Given the description of an element on the screen output the (x, y) to click on. 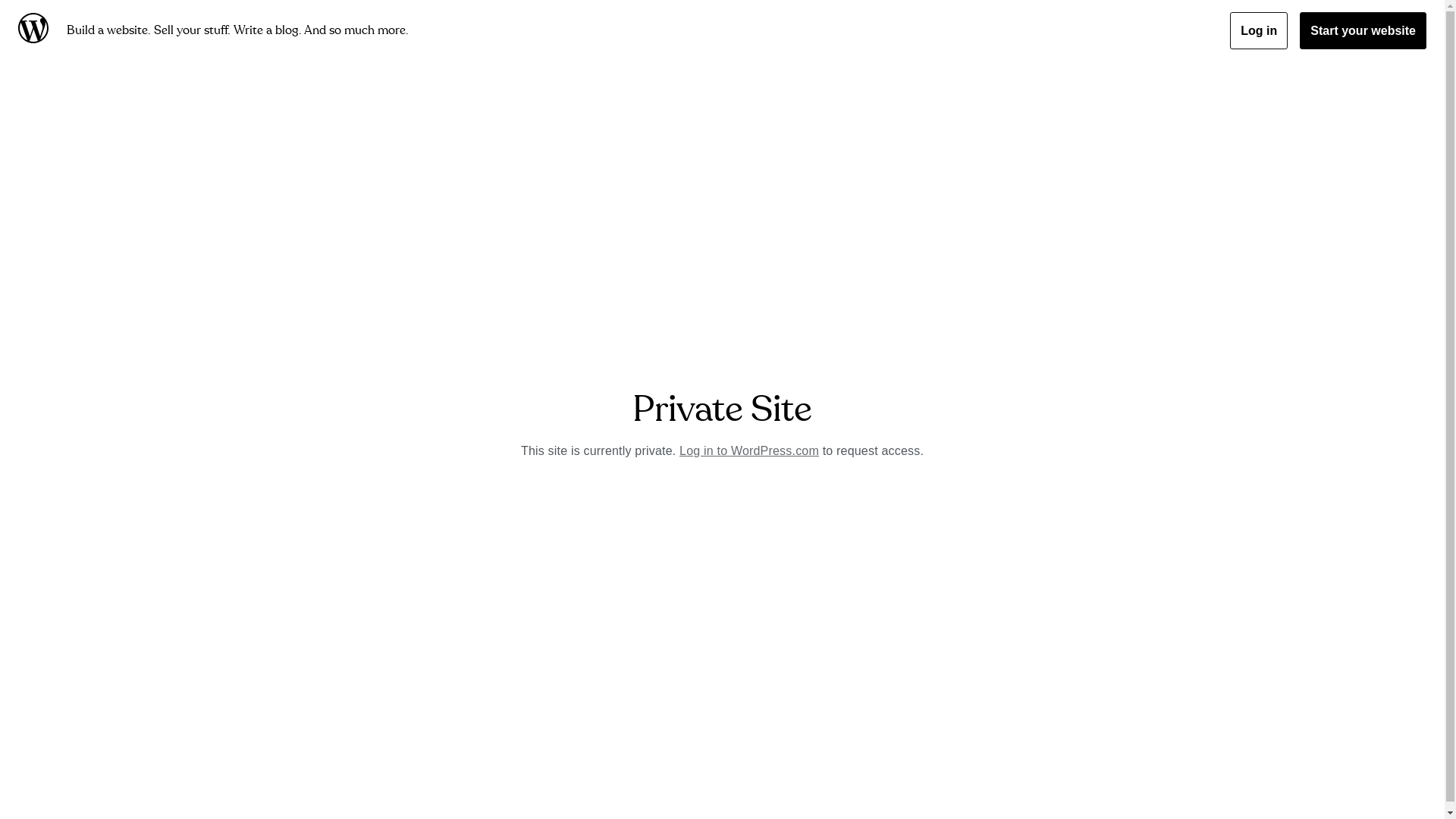
WordPress.com Element type: text (36, 30)
Log in Element type: text (1258, 30)
Log in to WordPress.com Element type: text (749, 450)
Start your website Element type: text (1362, 30)
